Given the description of an element on the screen output the (x, y) to click on. 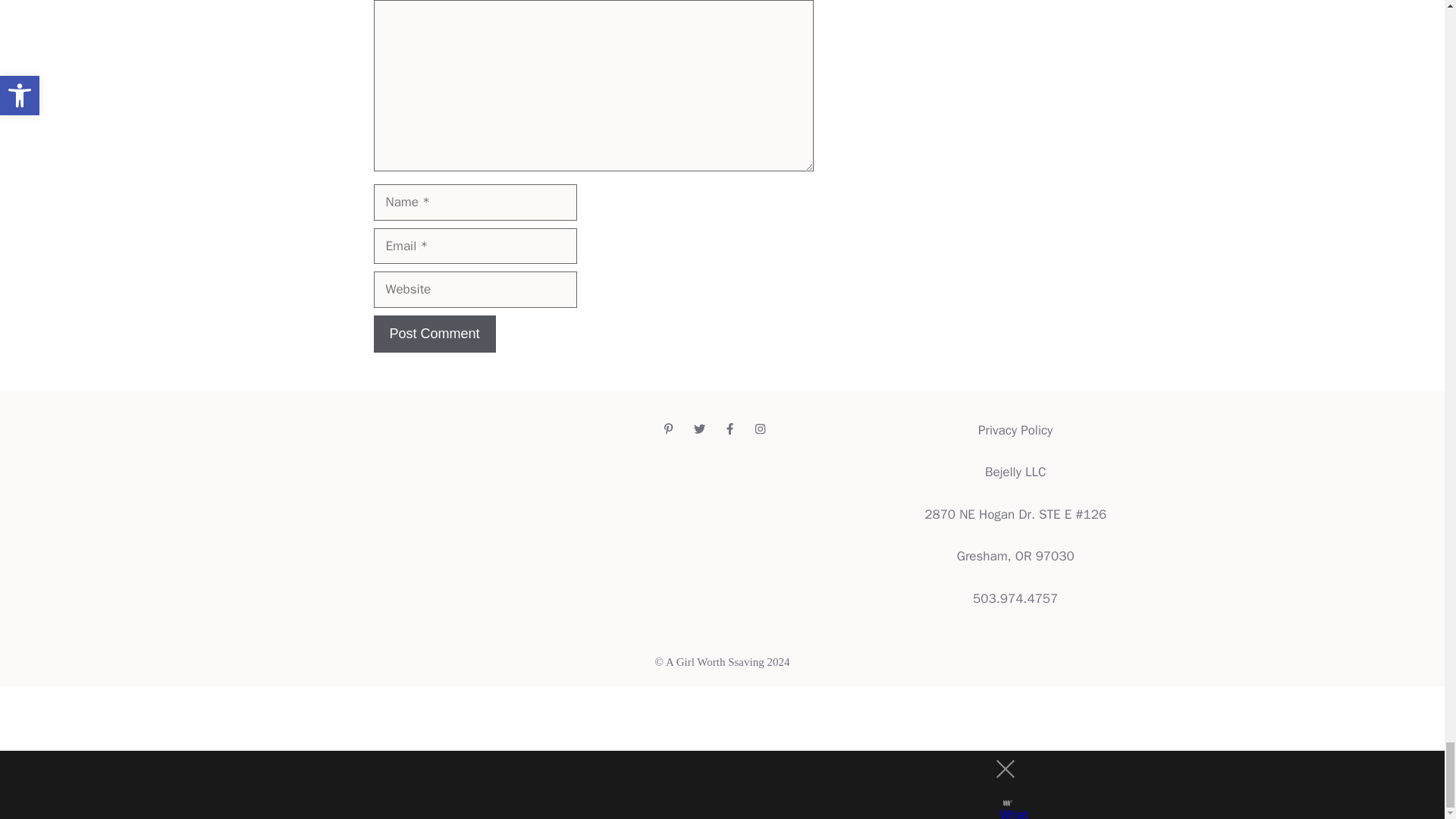
Post Comment (433, 333)
